Given the description of an element on the screen output the (x, y) to click on. 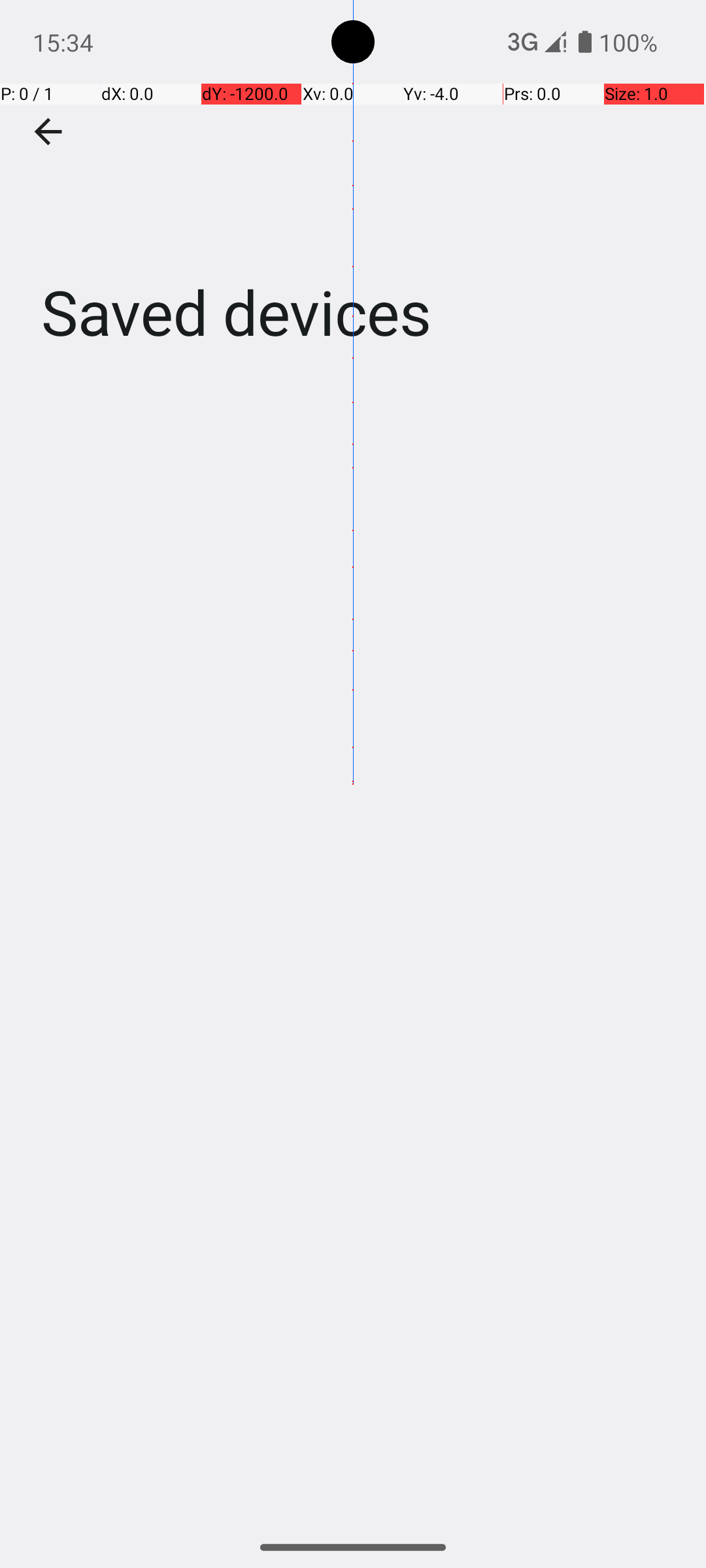
Saved devices Element type: android.widget.FrameLayout (353, 195)
